Given the description of an element on the screen output the (x, y) to click on. 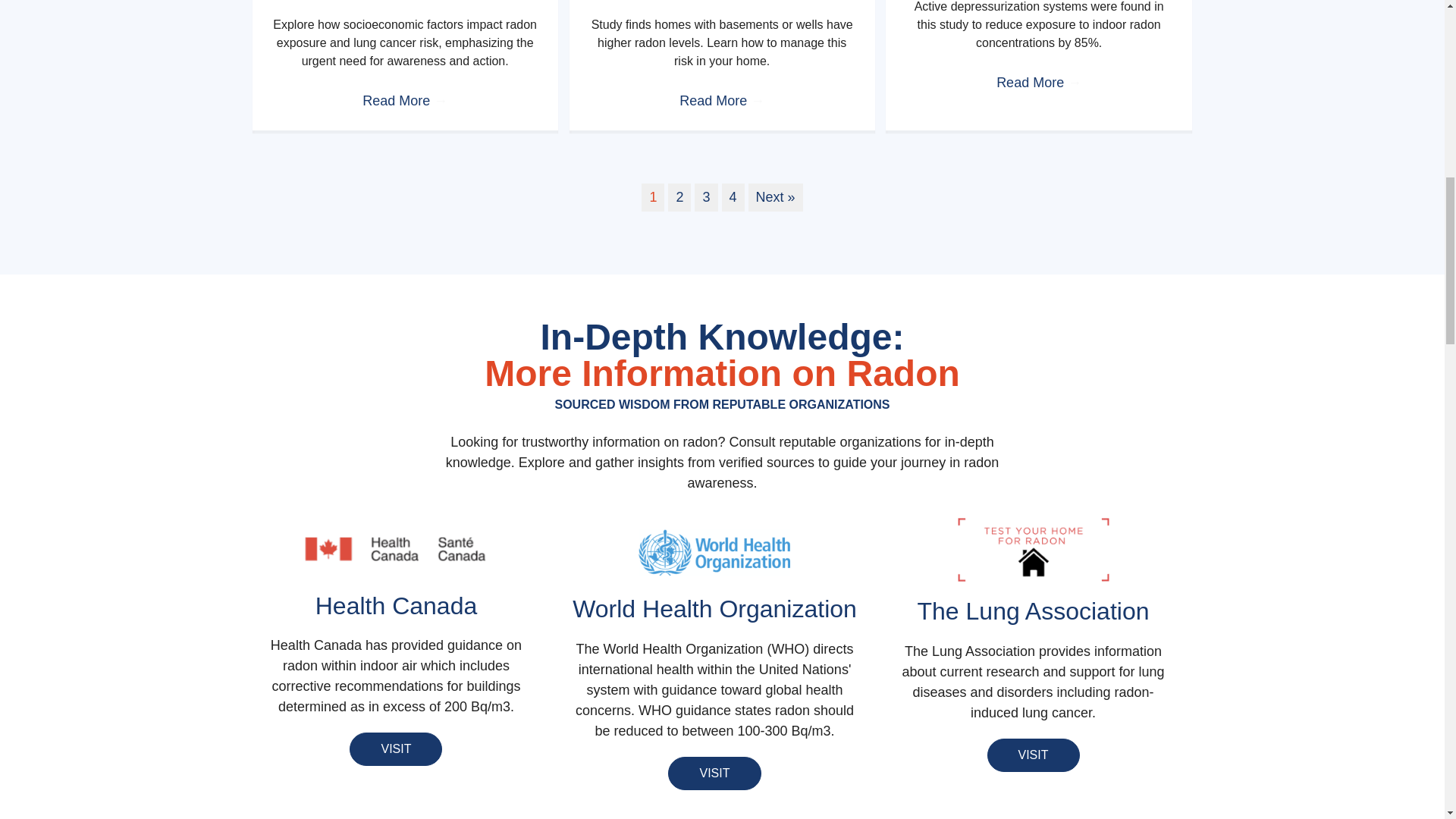
VISIT (1033, 755)
VISIT (714, 773)
The Lung Association logo v2 (1033, 549)
Read More (1038, 82)
World Health Organization logo v2 (714, 552)
Read More (404, 100)
Read More (721, 100)
VISIT (395, 748)
Health Canada logo v2 (395, 549)
